Given the description of an element on the screen output the (x, y) to click on. 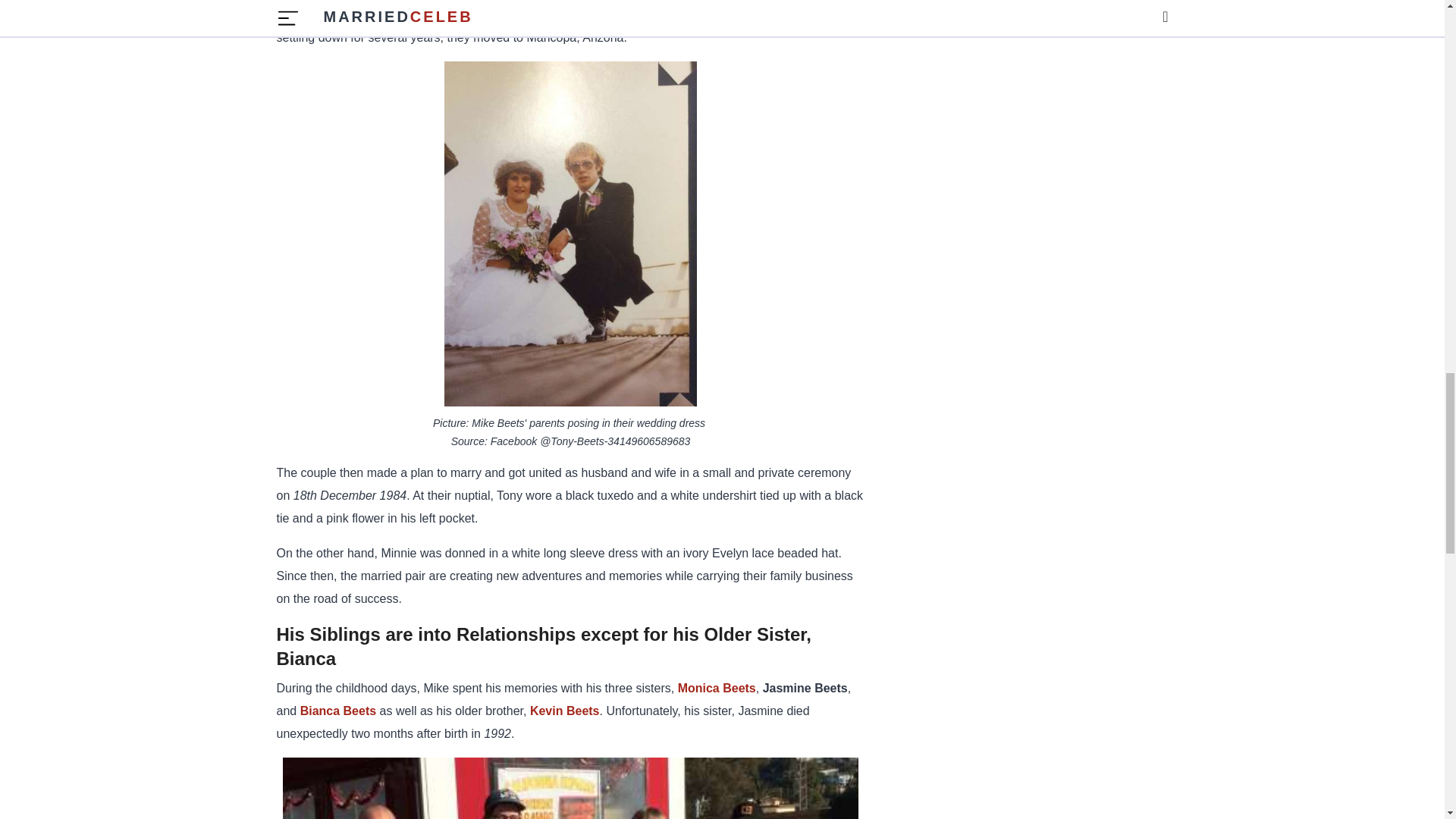
Monica Beets (716, 687)
Bianca Beets (338, 710)
Kevin Beets (564, 710)
